Given the description of an element on the screen output the (x, y) to click on. 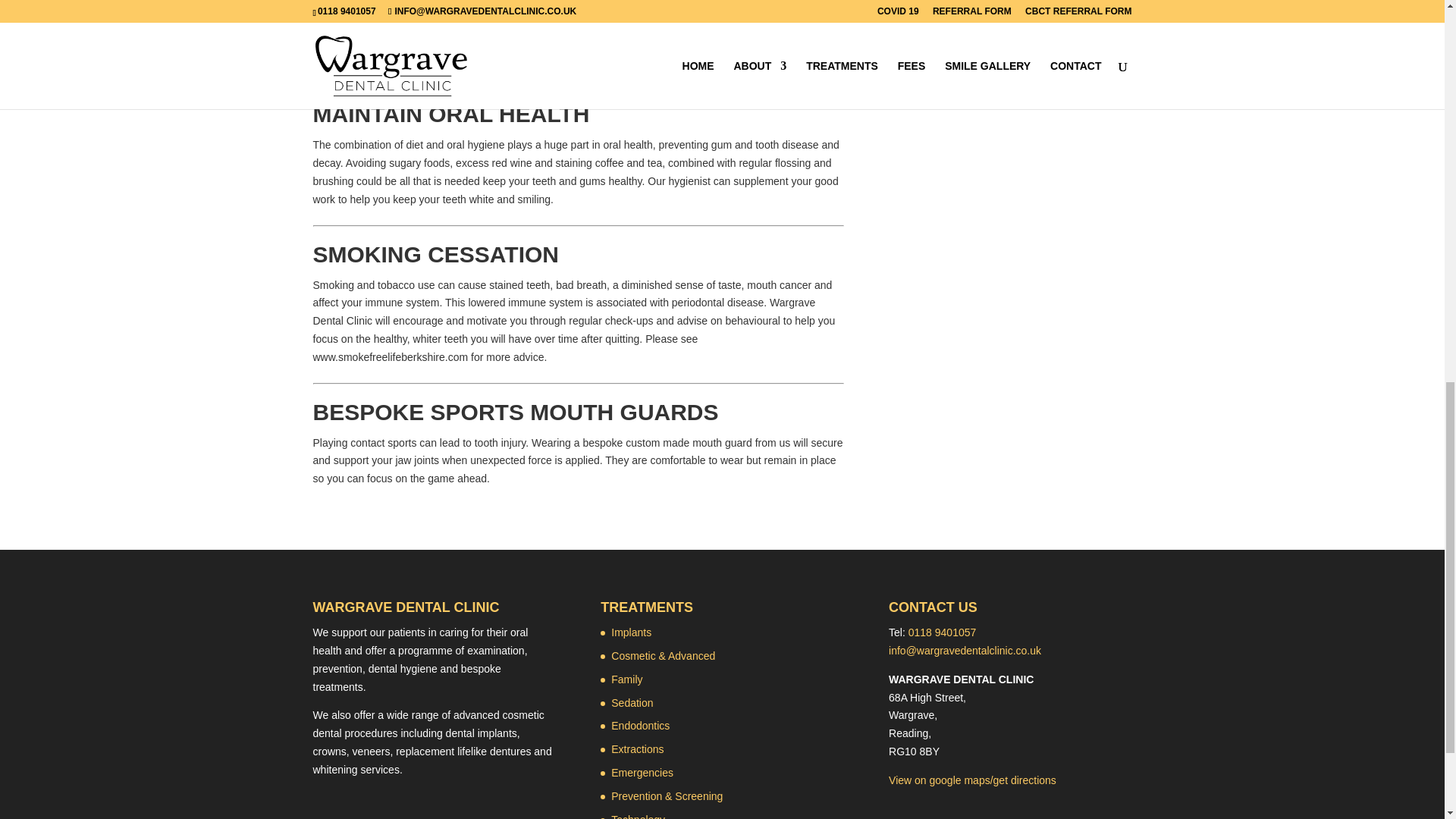
Sedation (631, 702)
Family (626, 679)
Endodontics (640, 725)
0118 9401057 (942, 632)
Emergencies (641, 772)
Extractions (637, 748)
Implants (630, 632)
Technology (638, 816)
